Given the description of an element on the screen output the (x, y) to click on. 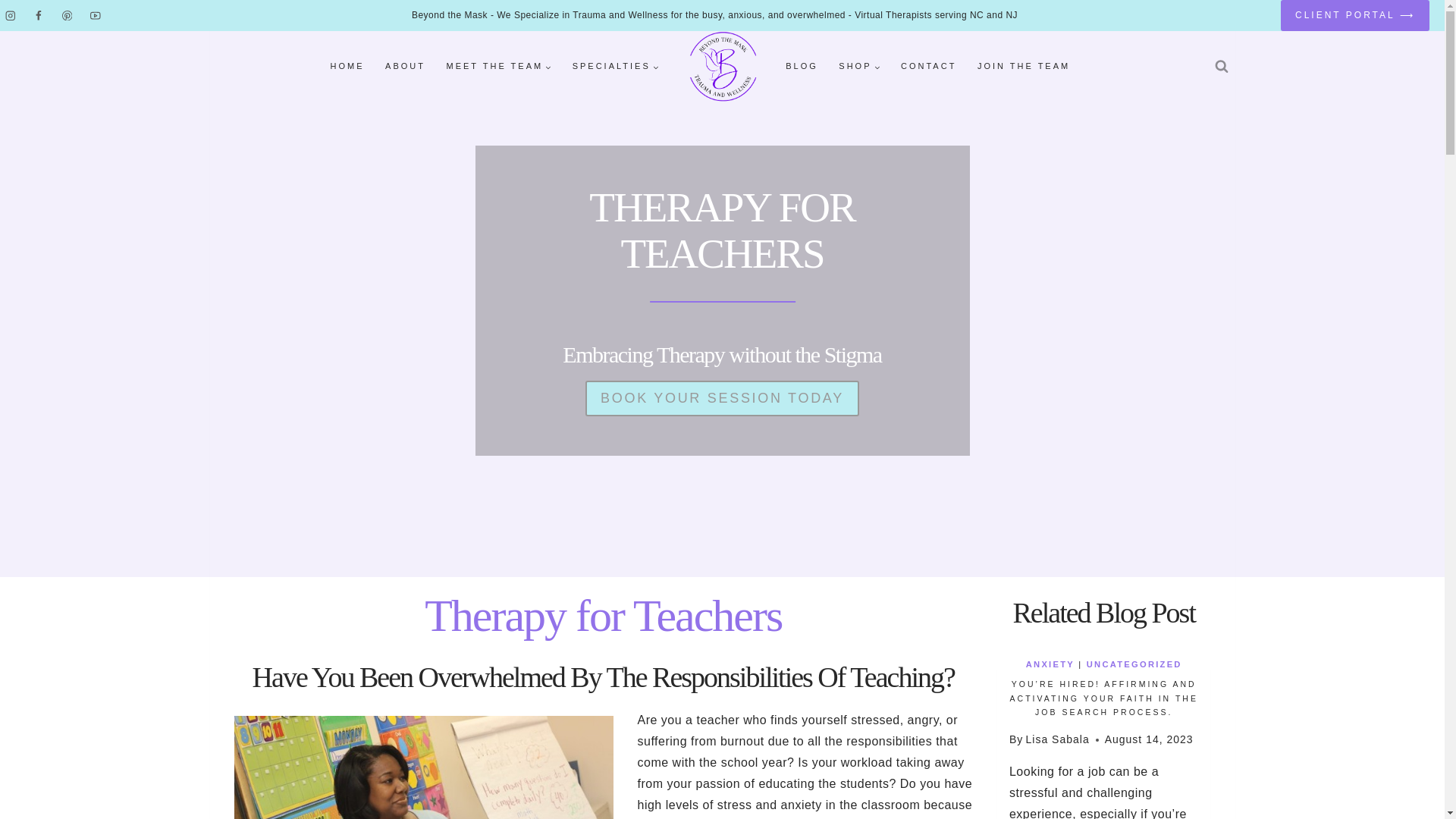
JOIN THE TEAM (1023, 66)
MEET THE TEAM (498, 66)
ANXIETY (1050, 664)
ABOUT (404, 66)
HOME (347, 66)
BOOK YOUR SESSION TODAY (722, 398)
CONTACT (927, 66)
BLOG (801, 66)
SHOP (859, 66)
UNCATEGORIZED (1134, 664)
